Given the description of an element on the screen output the (x, y) to click on. 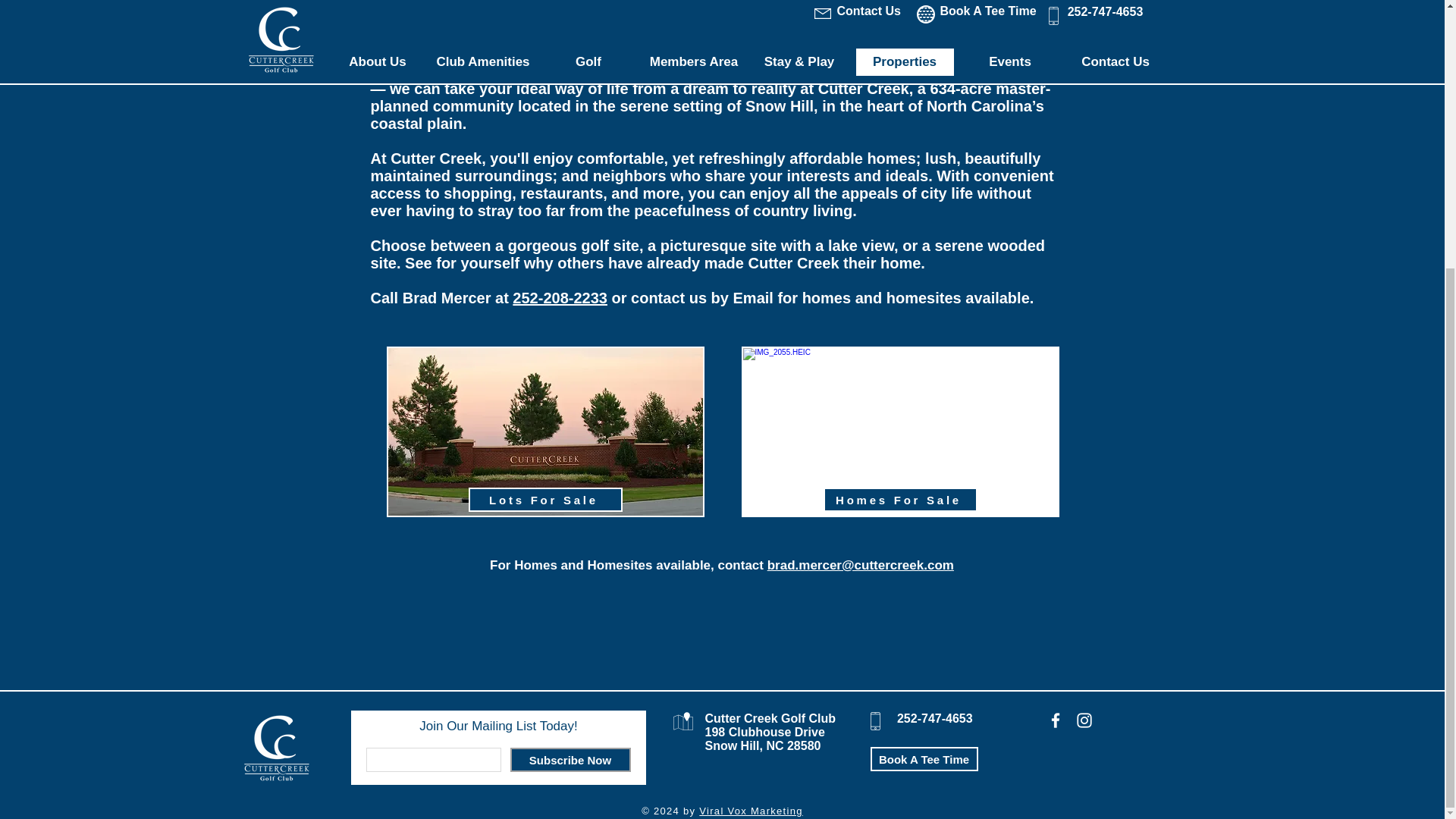
Lots For Sale (545, 499)
252-208-2233 (559, 297)
Cutter Creek Golf Club (769, 717)
Subscribe Now (569, 759)
Homes For Sale (900, 499)
